Given the description of an element on the screen output the (x, y) to click on. 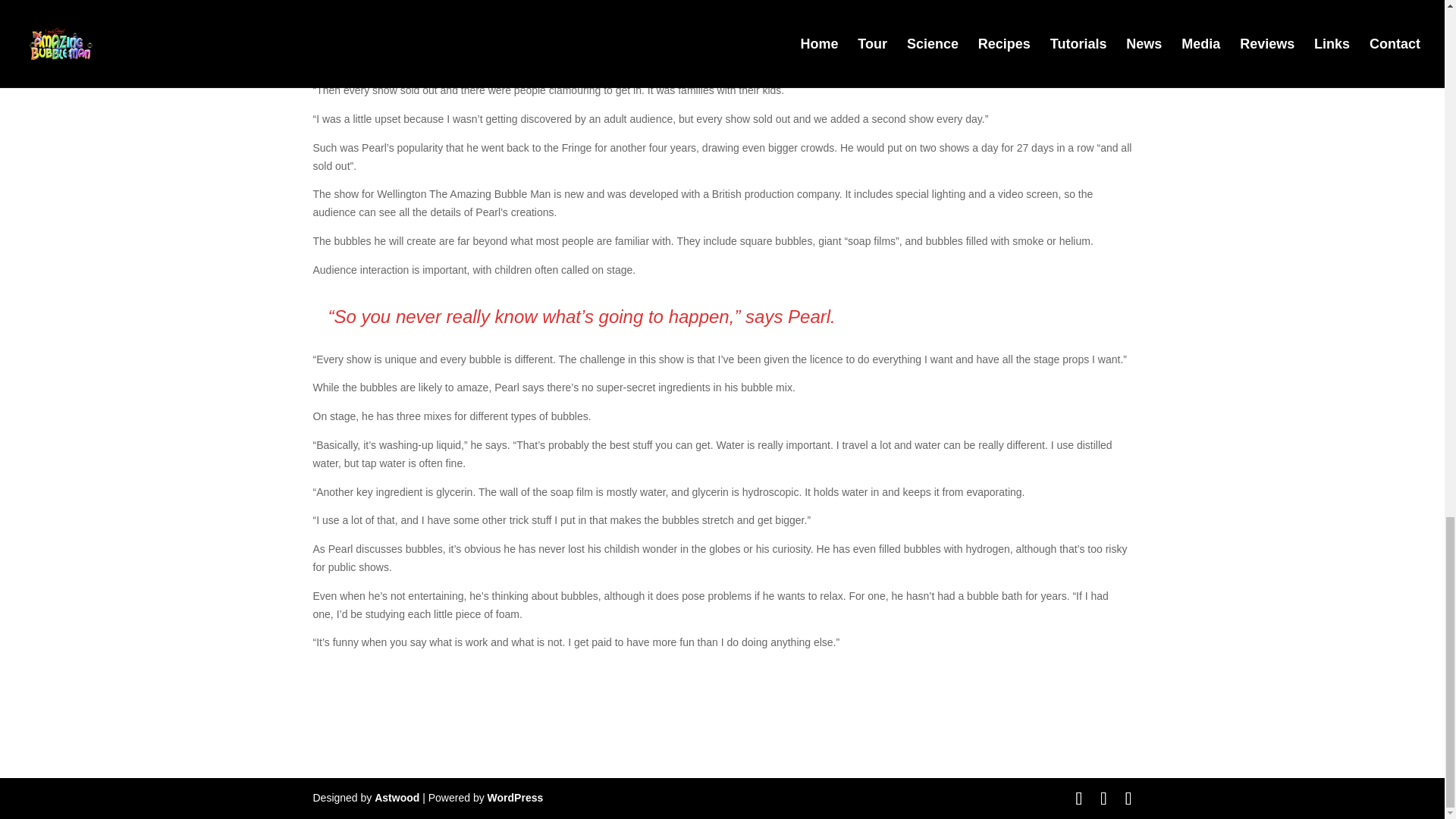
Astwood (396, 797)
Astwood Design (396, 797)
WordPress (515, 797)
